Given the description of an element on the screen output the (x, y) to click on. 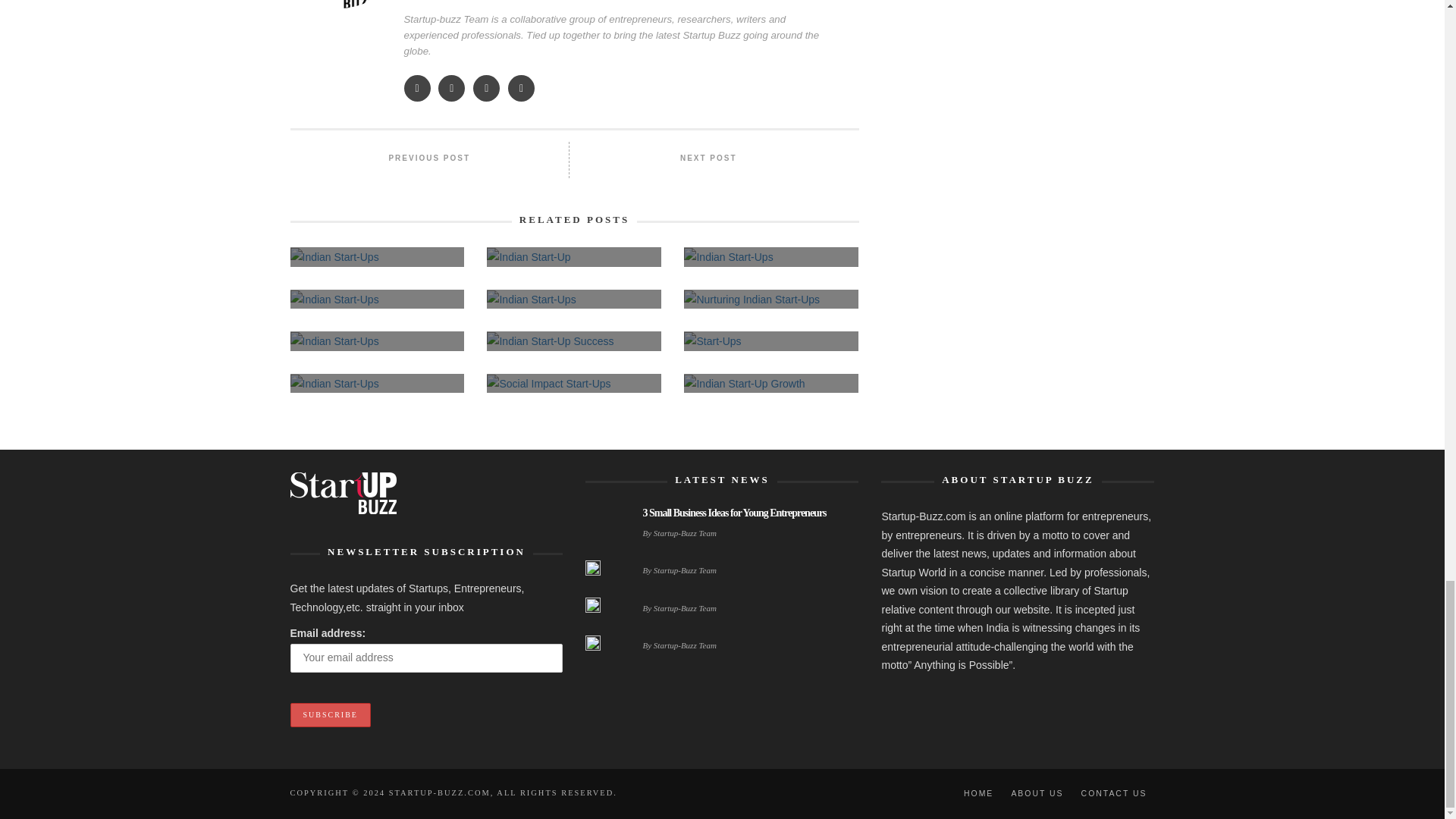
Subscribe (329, 714)
